Given the description of an element on the screen output the (x, y) to click on. 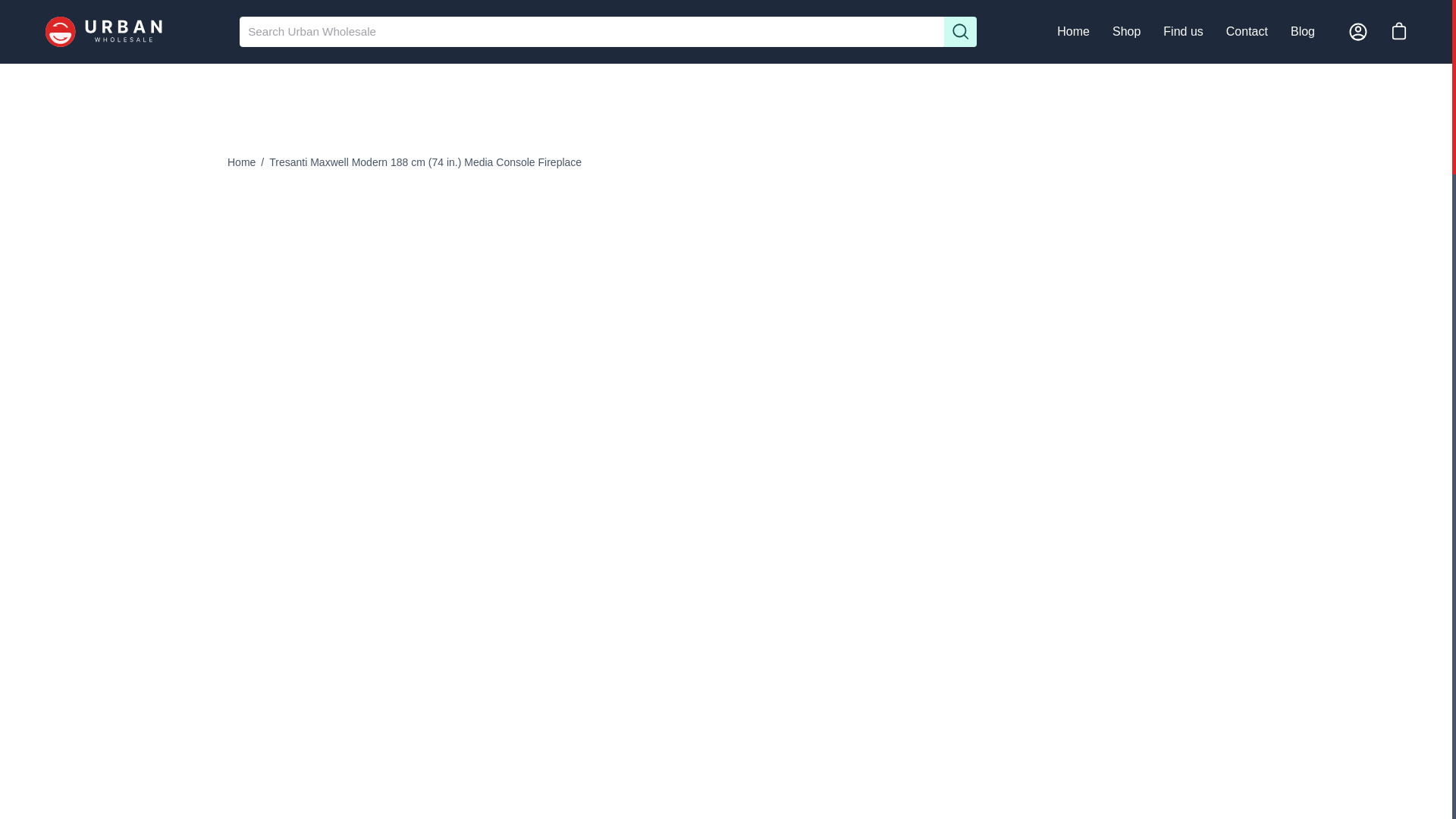
Back (241, 161)
